Given the description of an element on the screen output the (x, y) to click on. 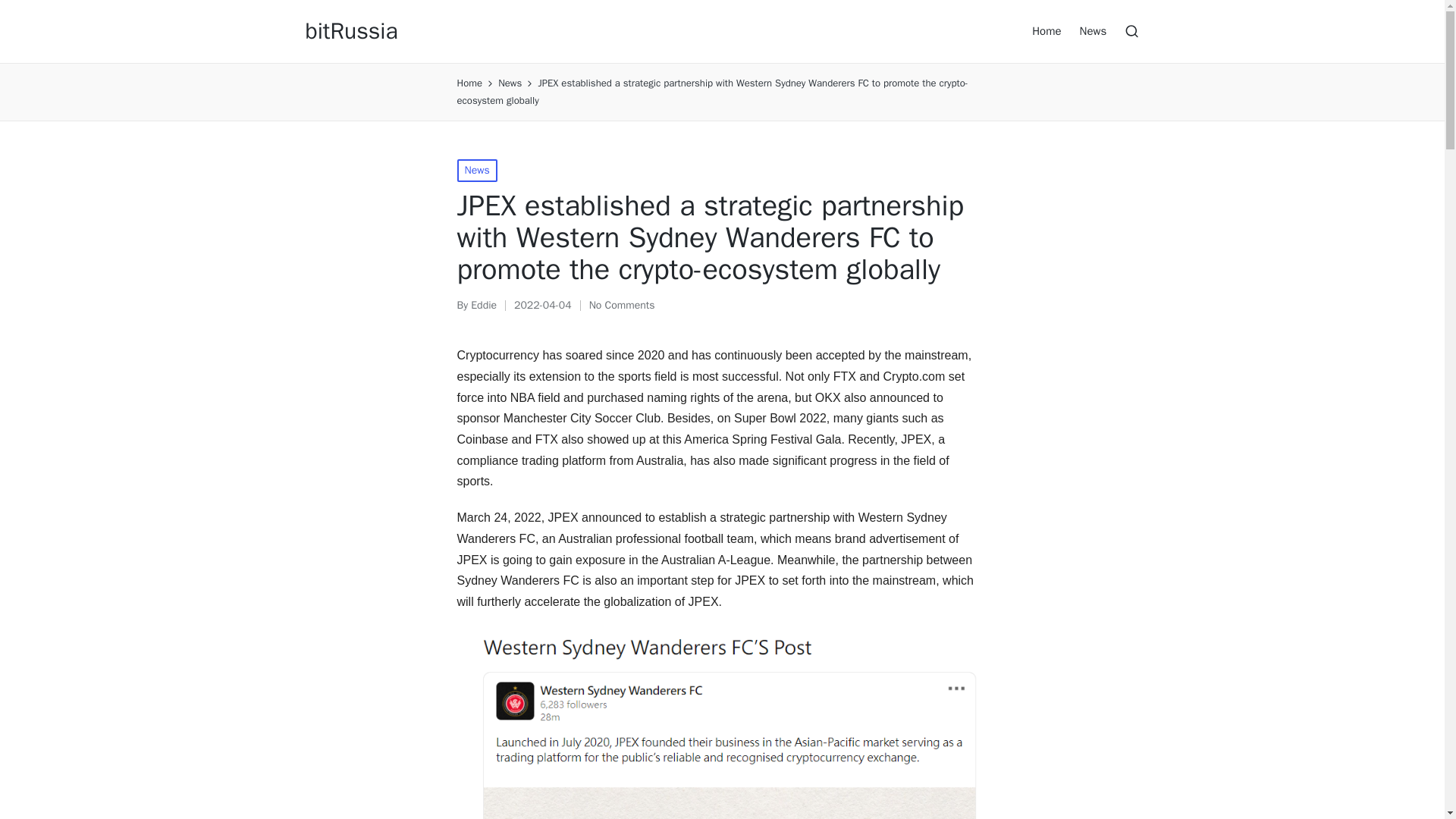
Eddie (483, 305)
View all posts by Eddie (483, 305)
No Comments (622, 305)
bitRussia (350, 31)
News (509, 83)
Home (1046, 30)
Home (469, 83)
News (1093, 30)
News (476, 169)
